Given the description of an element on the screen output the (x, y) to click on. 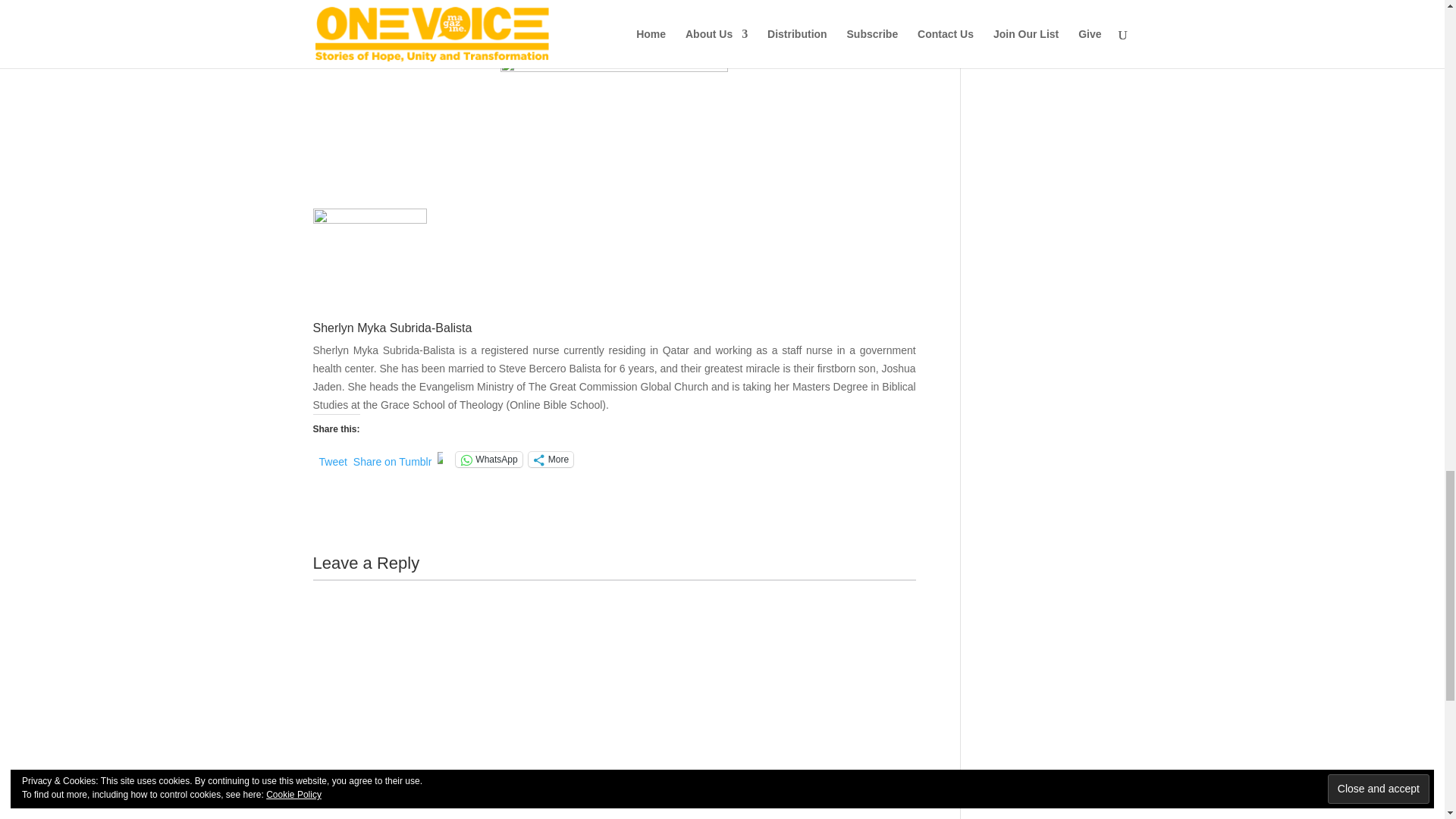
Tweet (332, 459)
Click to share on WhatsApp (488, 459)
More (550, 459)
Share on Tumblr (392, 459)
Share on Tumblr (392, 459)
WhatsApp (488, 459)
